Given the description of an element on the screen output the (x, y) to click on. 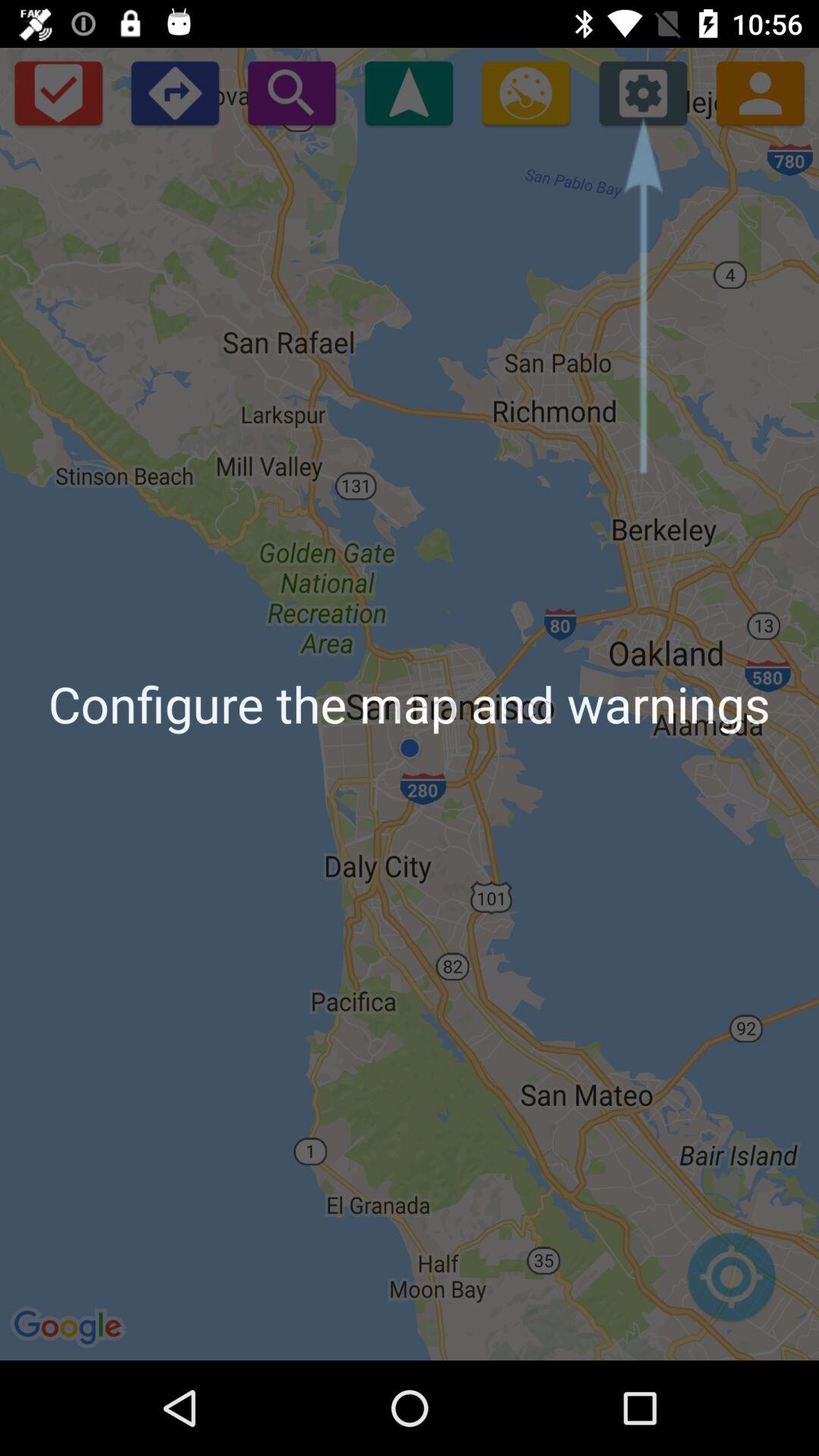
tap the item above configure the map (525, 92)
